Given the description of an element on the screen output the (x, y) to click on. 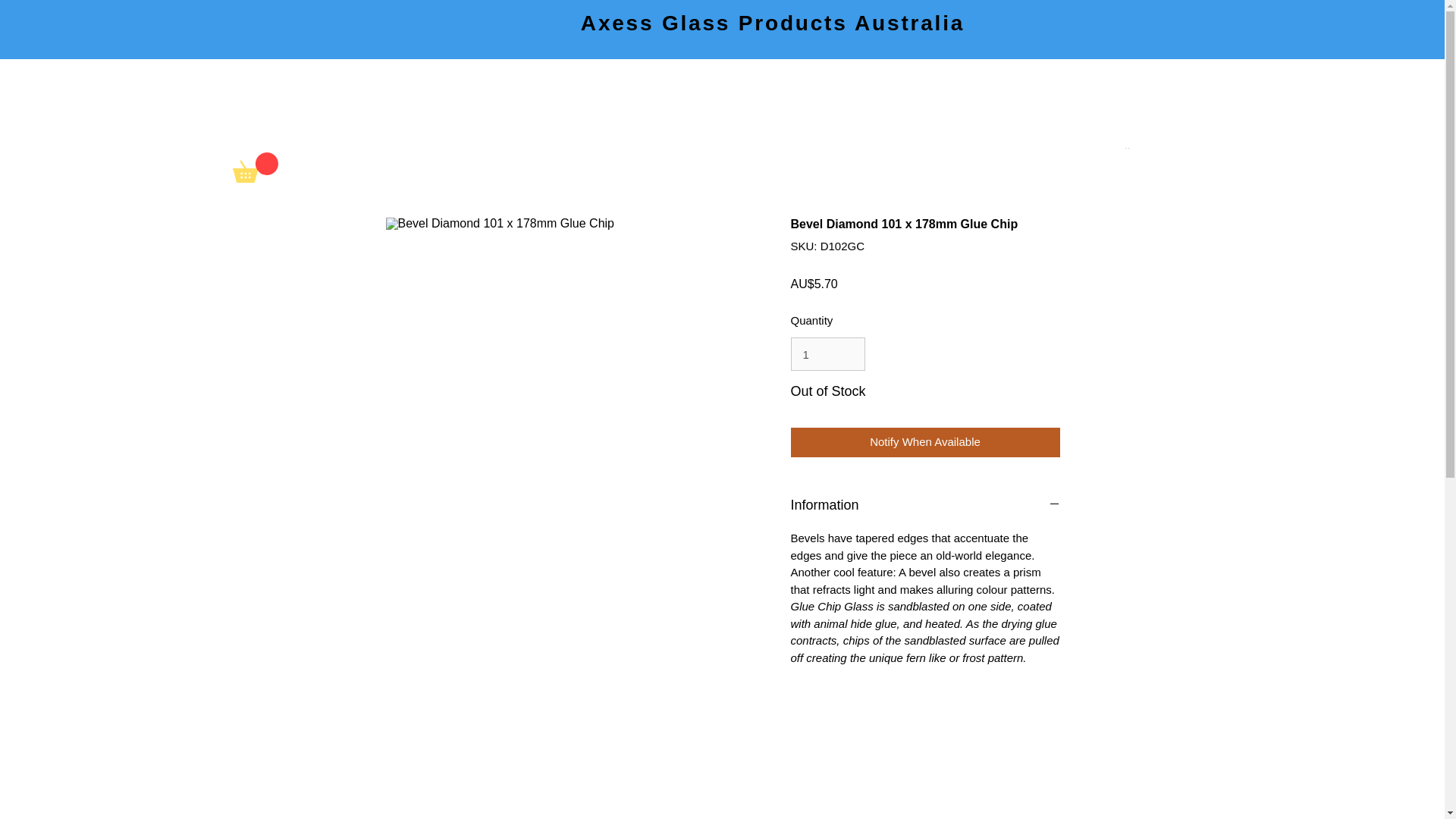
Information (924, 505)
Notify When Available (924, 442)
1 (827, 354)
Axess Glass Products Australia (771, 23)
